Given the description of an element on the screen output the (x, y) to click on. 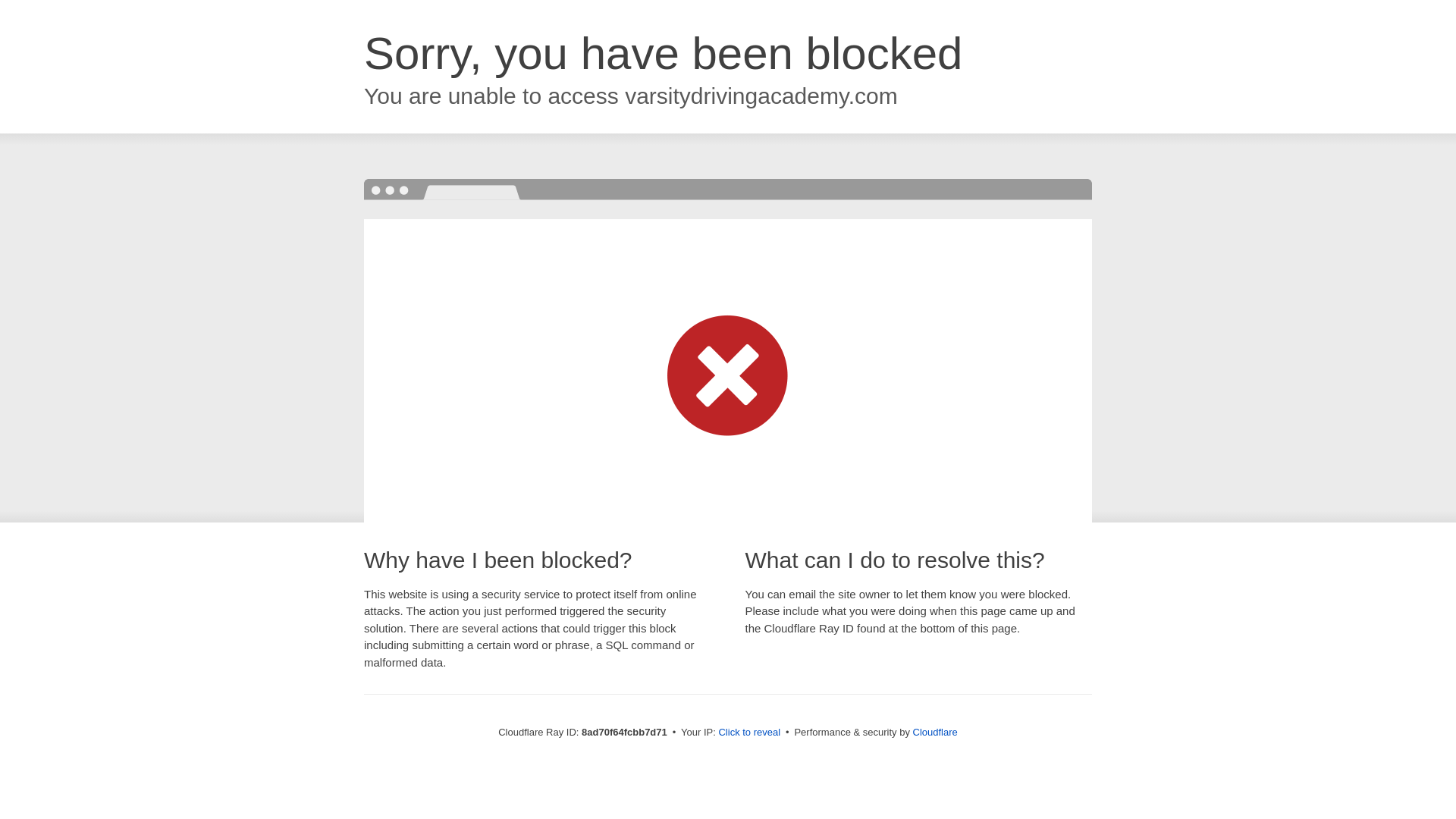
Click to reveal (748, 732)
Cloudflare (935, 731)
